Given the description of an element on the screen output the (x, y) to click on. 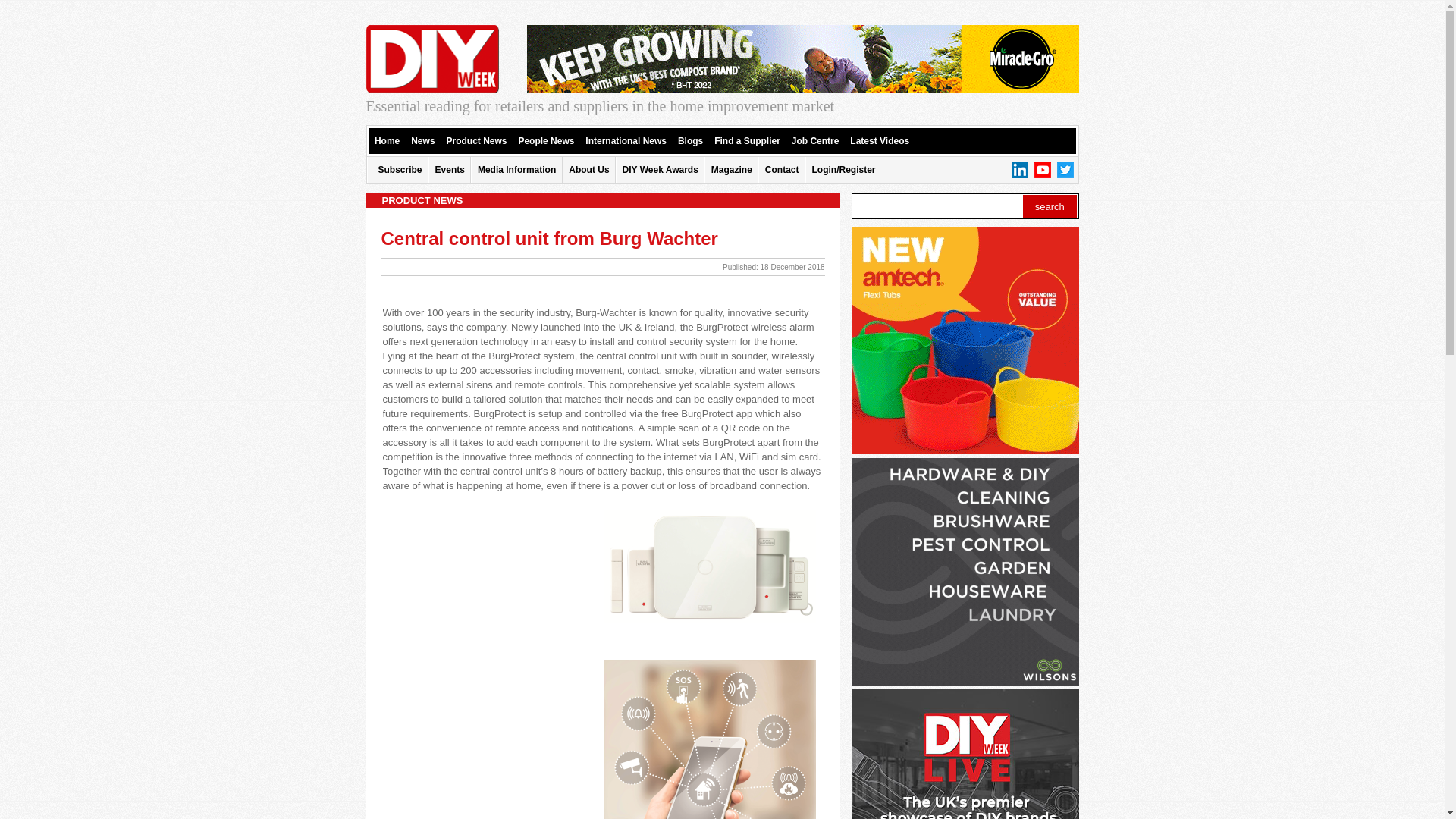
About Us (588, 169)
Subscribe (399, 169)
Latest Videos (879, 140)
Job Centre (816, 140)
Magazine (731, 169)
Search (1049, 206)
News (421, 140)
Contact (782, 169)
Search (1049, 206)
PRODUCT NEWS (602, 200)
Home (386, 140)
International News (625, 140)
Media Information (516, 169)
Find a Supplier (747, 140)
Blogs (690, 140)
